Given the description of an element on the screen output the (x, y) to click on. 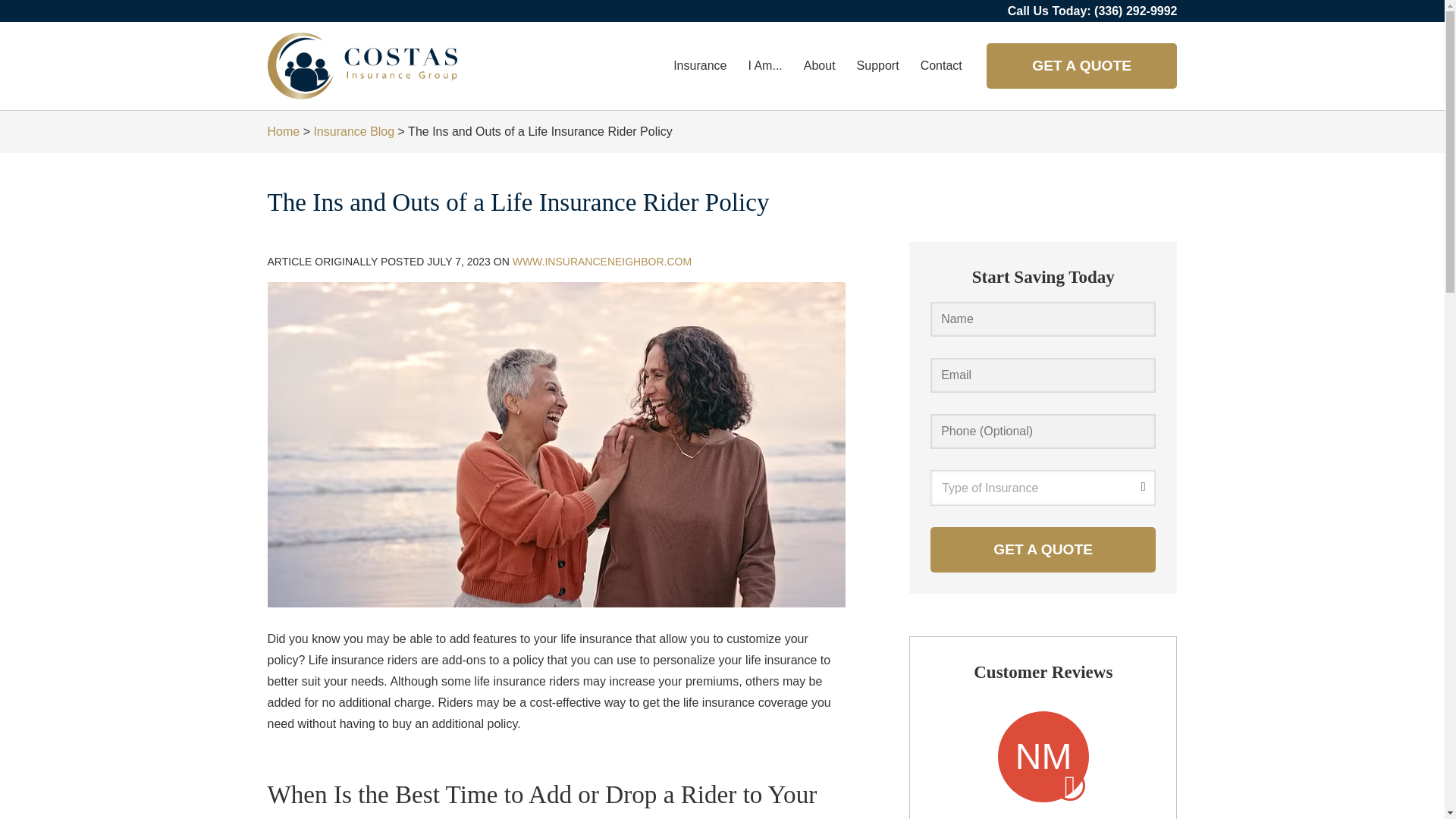
Insurance (699, 65)
I Am... (764, 65)
Support (877, 65)
Get A Quote (1043, 549)
About (819, 65)
